Given the description of an element on the screen output the (x, y) to click on. 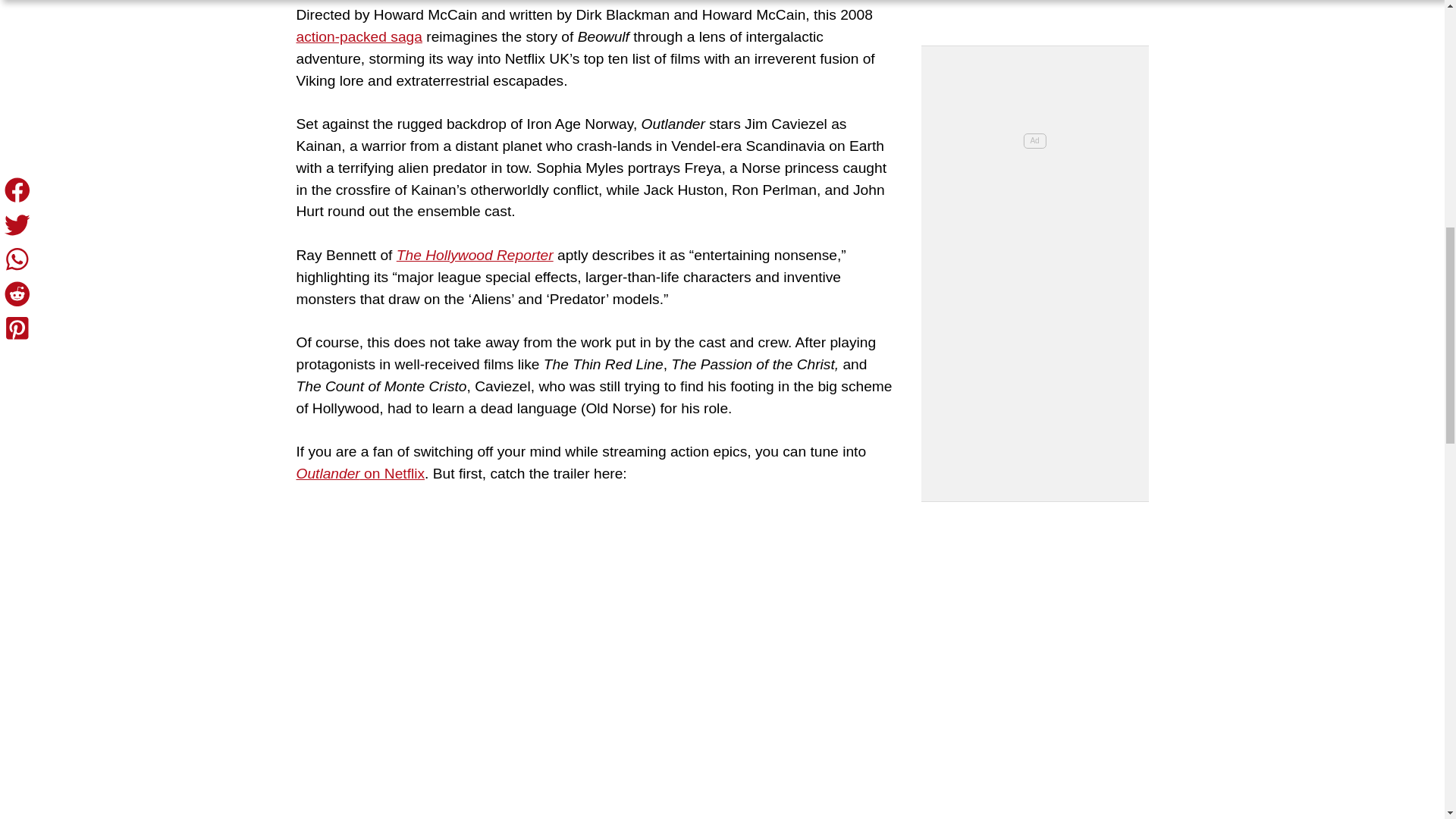
The Hollywood Reporter (474, 254)
Outlander on Netflix (360, 473)
action-packed saga (358, 36)
